Given the description of an element on the screen output the (x, y) to click on. 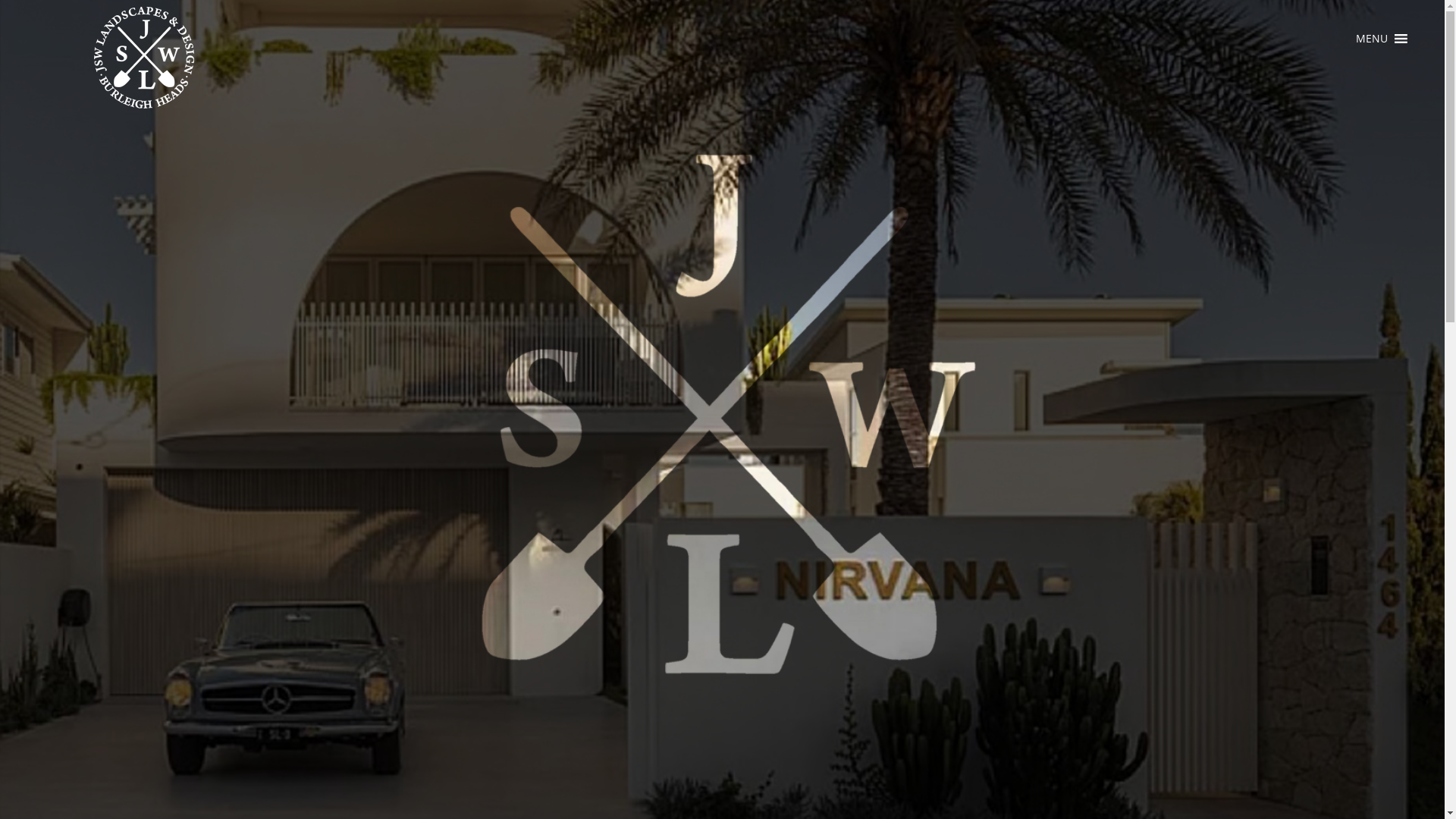
JSW LANDSCAPES & DESIGN Element type: text (143, 57)
Skip to main content Element type: text (0, 0)
